Given the description of an element on the screen output the (x, y) to click on. 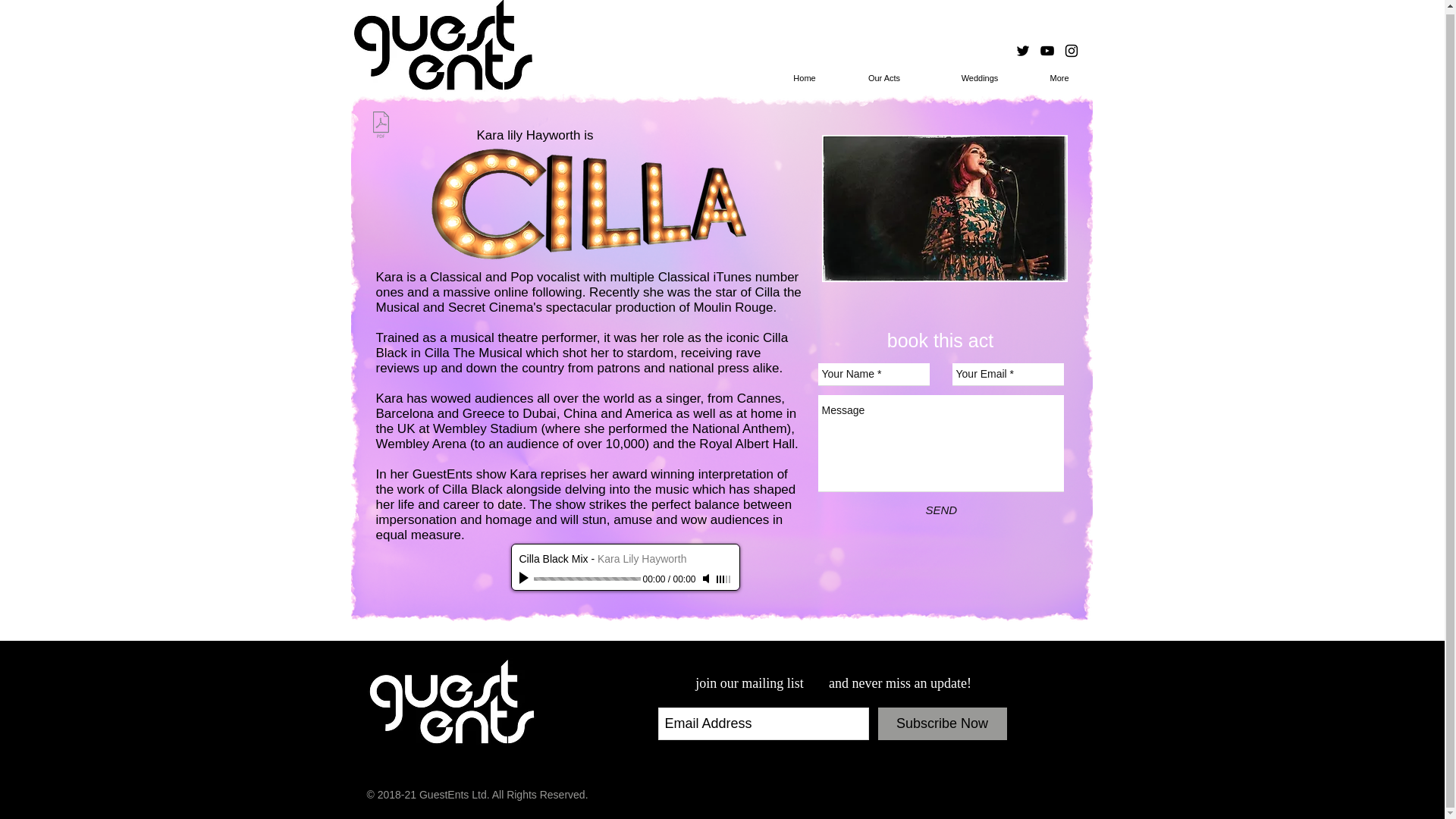
SEND (940, 509)
Weddings (979, 77)
Home (803, 77)
Our Acts (884, 77)
Subscribe Now (942, 723)
0 (587, 578)
